Given the description of an element on the screen output the (x, y) to click on. 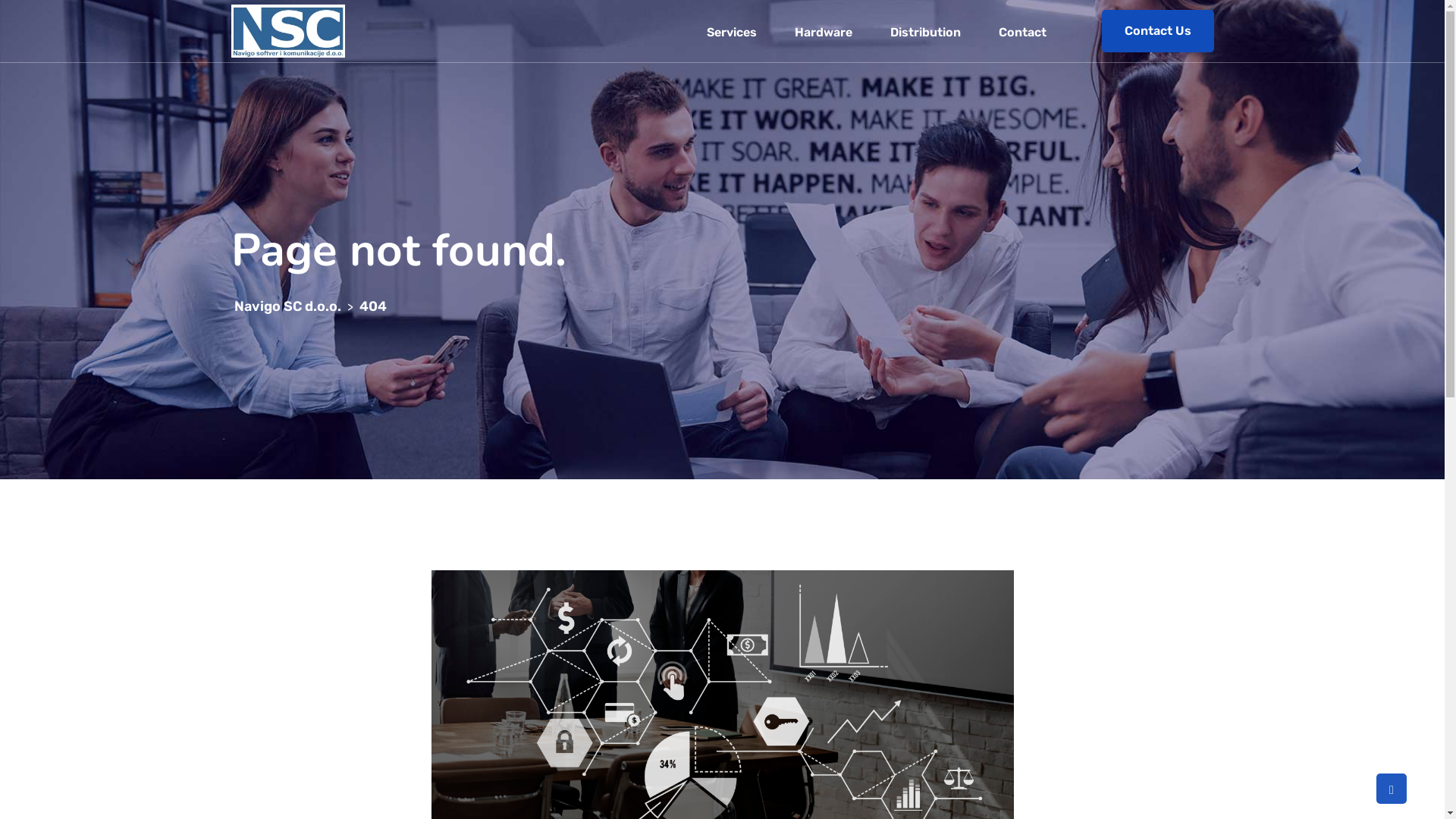
Distribution Element type: text (924, 31)
Contact Us Element type: text (1157, 30)
404 Element type: text (372, 306)
Services Element type: text (731, 31)
Navigo SC d.o.o. Element type: text (287, 306)
Hardware Element type: text (822, 31)
Contact Element type: text (1022, 31)
